Given the description of an element on the screen output the (x, y) to click on. 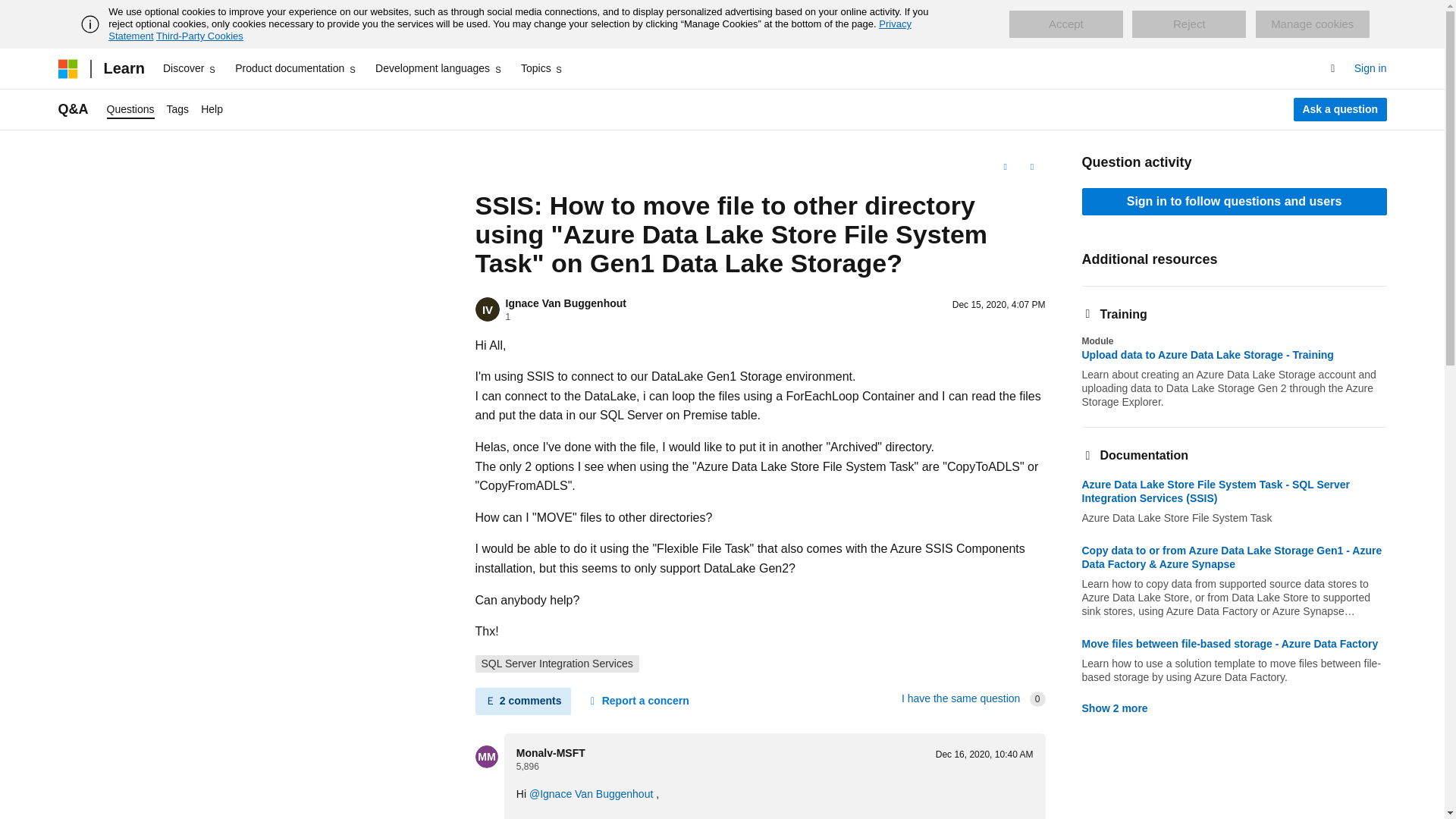
Share this question (1031, 166)
Ask a question (1340, 109)
Sign in (1370, 68)
Accept (1065, 23)
Product documentation (295, 68)
Learn (123, 68)
Report a concern (637, 700)
You have the same or similar question (960, 698)
Reputation points (527, 766)
Development languages (438, 68)
